Given the description of an element on the screen output the (x, y) to click on. 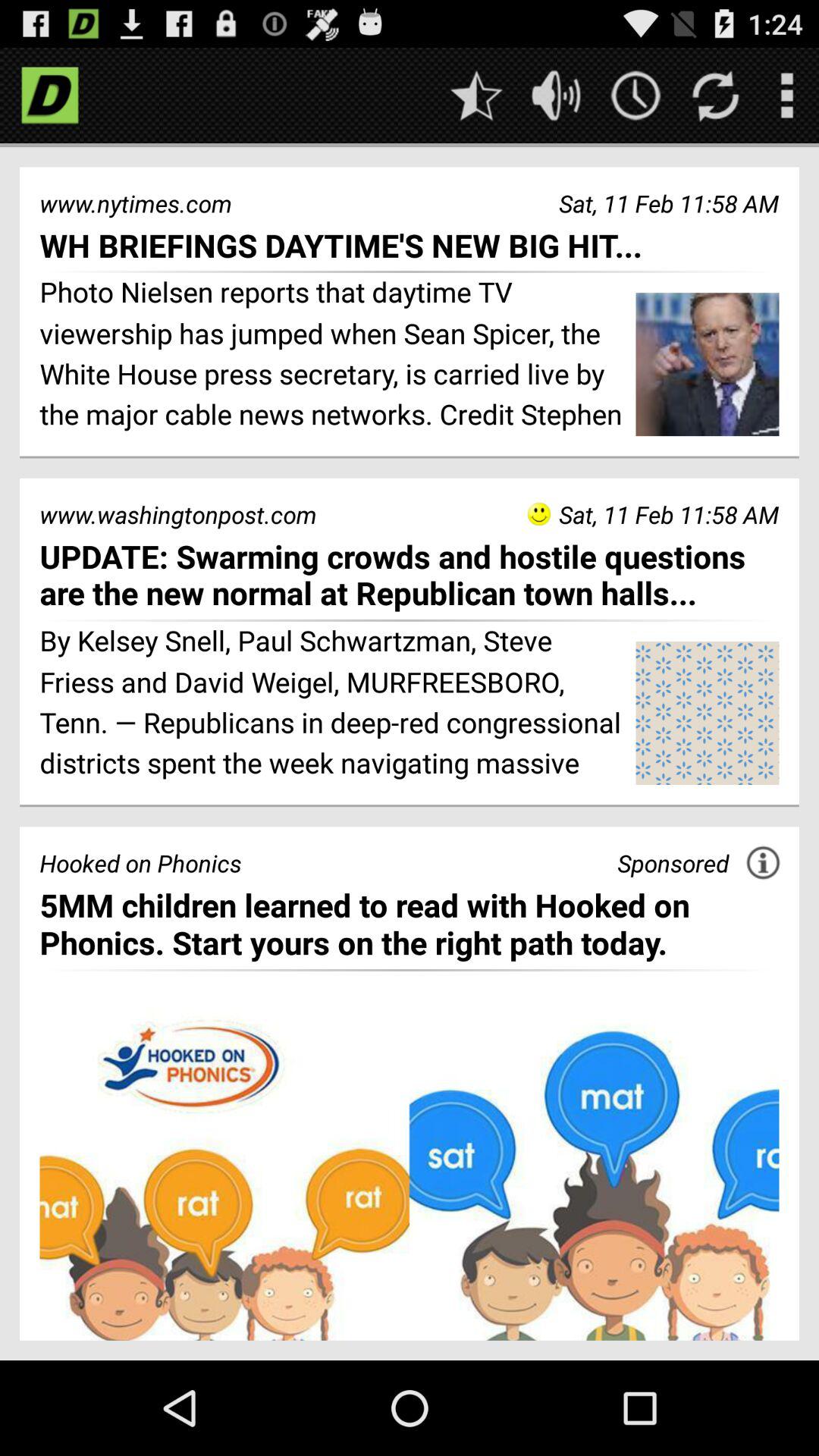
favorite (476, 95)
